Given the description of an element on the screen output the (x, y) to click on. 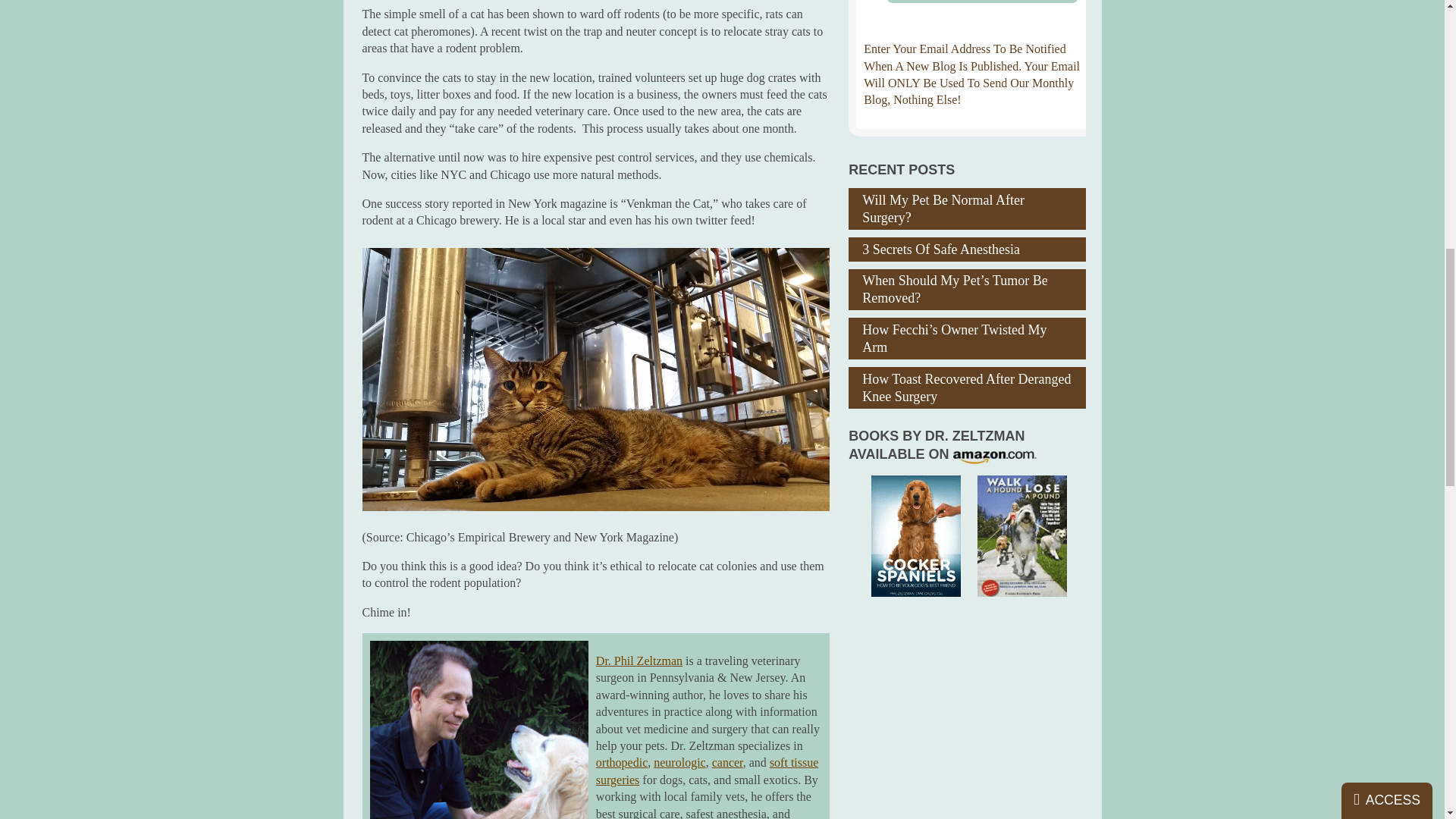
Dr. Phil Zeltzman (638, 660)
soft tissue surgeries (706, 770)
orthopedic (621, 762)
Sign Up Here (982, 1)
neurologic (678, 762)
cancer (726, 762)
